Given the description of an element on the screen output the (x, y) to click on. 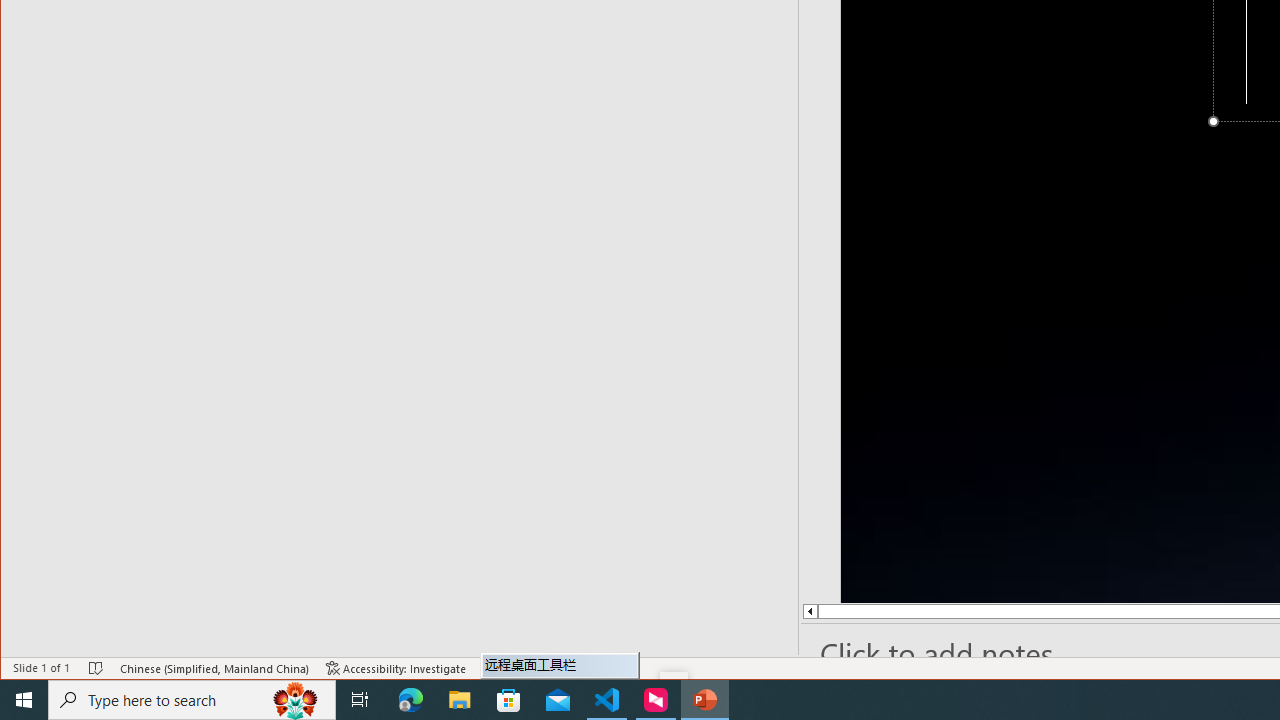
PowerPoint - 1 running window (704, 699)
File Explorer (460, 699)
Search highlights icon opens search home window (295, 699)
Microsoft Store (509, 699)
Task View (359, 699)
Type here to search (191, 699)
Visual Studio Code - 1 running window (607, 699)
Microsoft Edge (411, 699)
